Given the description of an element on the screen output the (x, y) to click on. 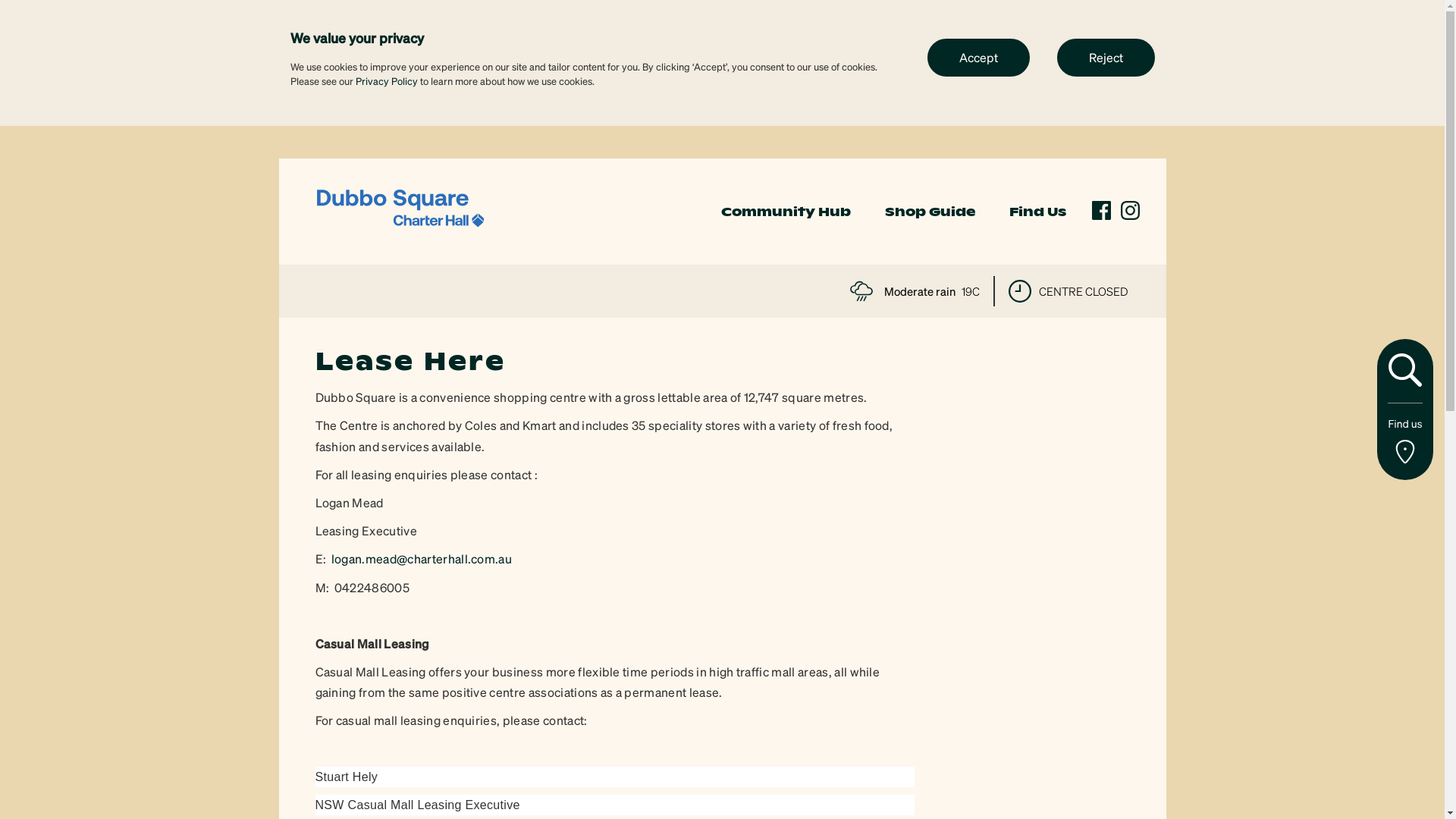
Privacy Policy Element type: text (385, 80)
time Element type: hover (1019, 290)
facebook Element type: hover (1101, 209)
Find Us Element type: text (1036, 211)
Reject Element type: text (1105, 56)
Shop Guide Element type: text (929, 211)
CENTRE CLOSED Element type: text (1068, 290)
instagram Element type: hover (1129, 209)
logan.mead@charterhall.com.au Element type: text (421, 558)
Accept Element type: text (977, 56)
Community Hub Element type: text (785, 211)
